Given the description of an element on the screen output the (x, y) to click on. 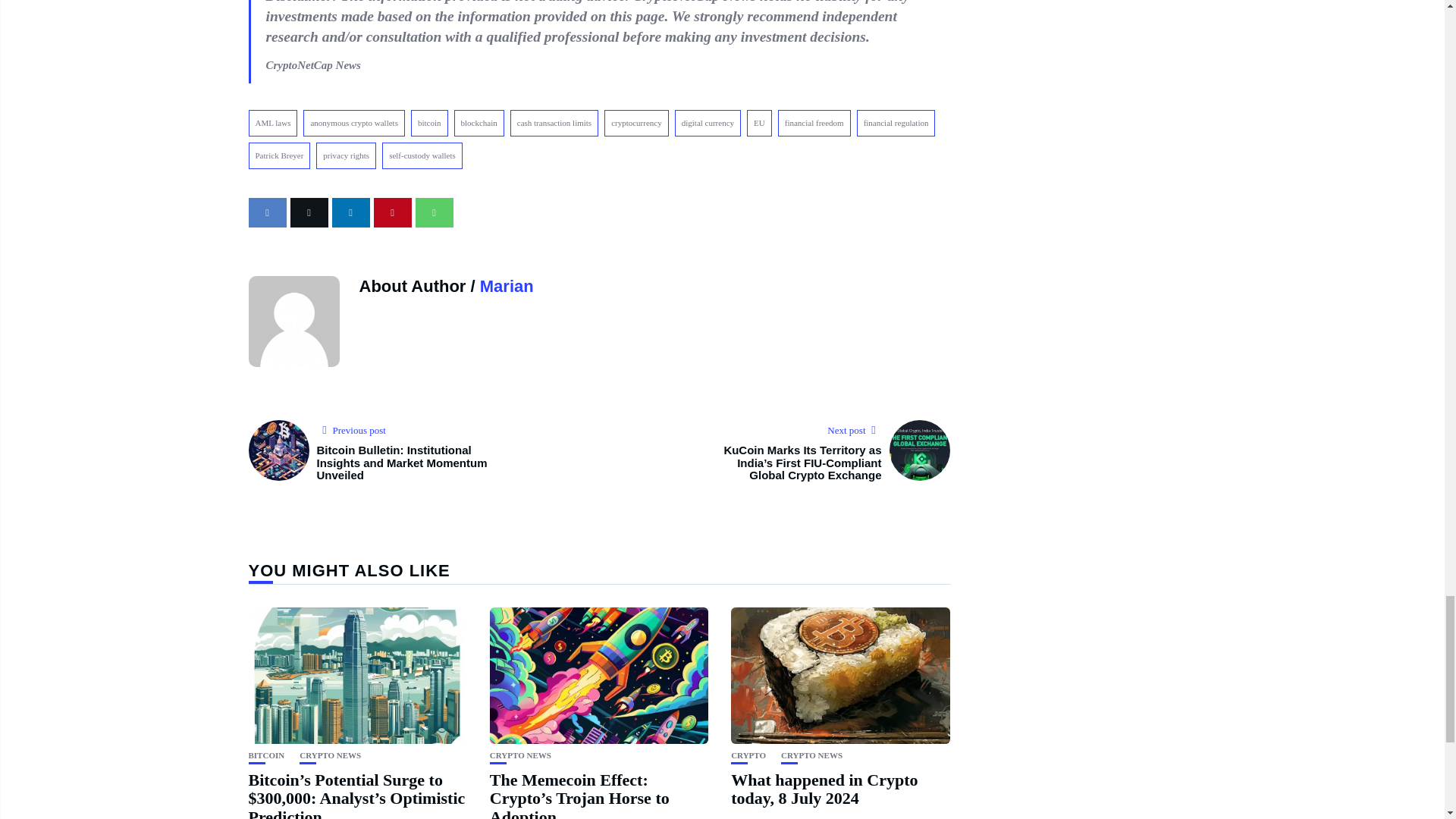
Posts by Marian (507, 285)
facebook (267, 212)
